Given the description of an element on the screen output the (x, y) to click on. 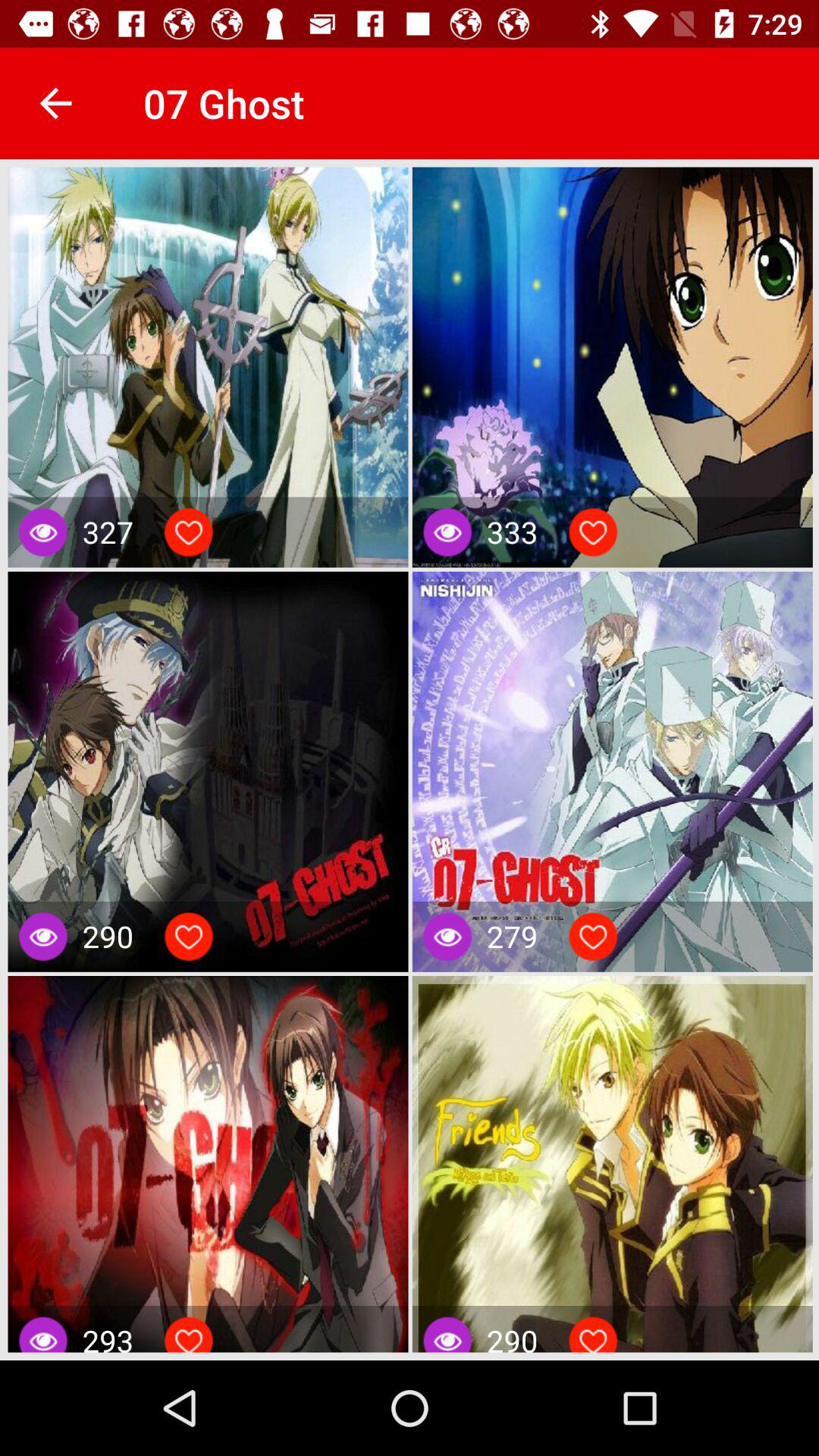
like button (593, 532)
